Given the description of an element on the screen output the (x, y) to click on. 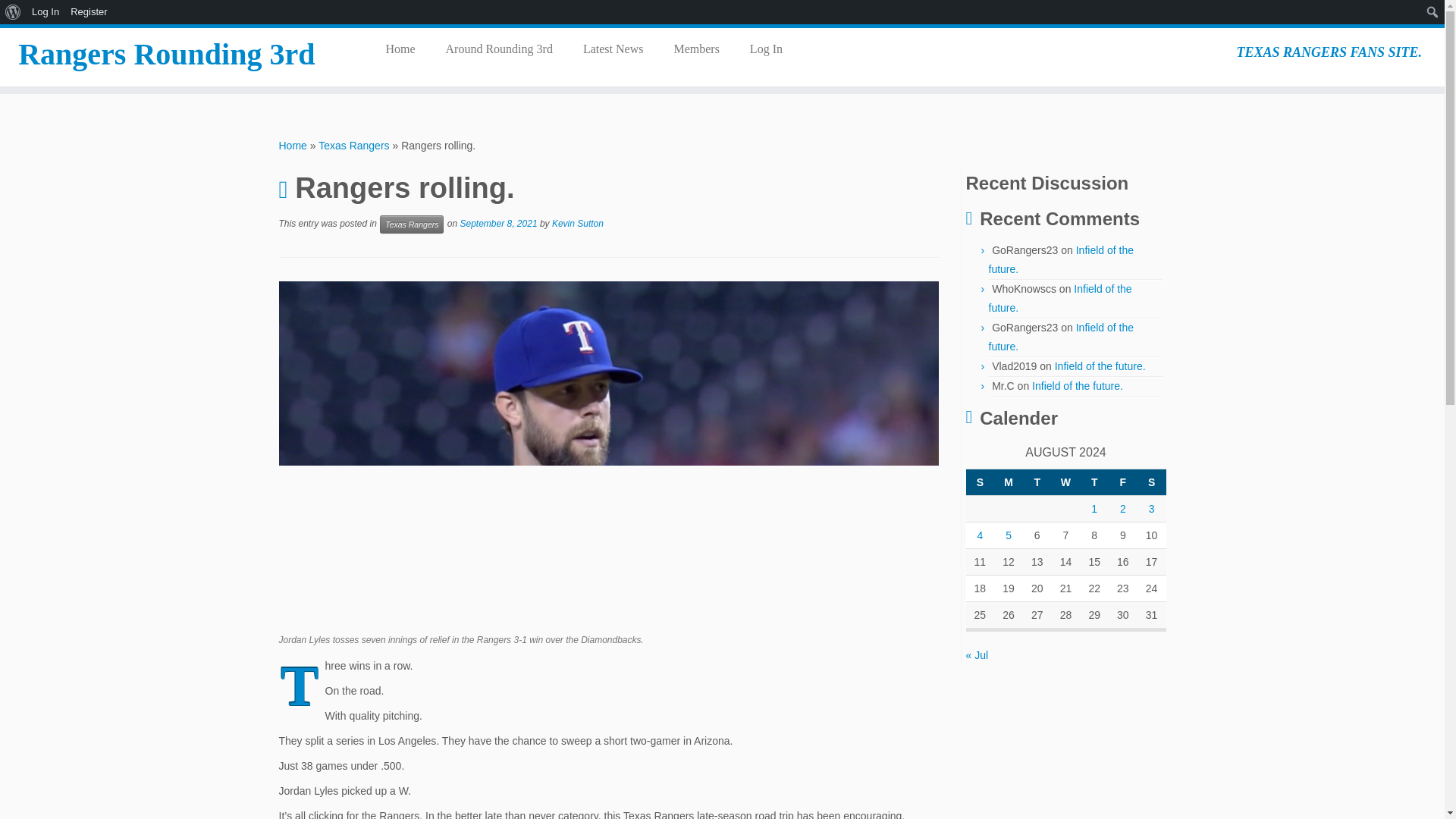
View all posts by Kevin Sutton (577, 223)
Wednesday (1065, 481)
Thursday (1094, 481)
Search (16, 12)
Rangers Rounding 3rd (293, 145)
Sunday (980, 481)
Register (89, 12)
Infield of the future. (1061, 259)
Monday (1008, 481)
Home (405, 48)
